Given the description of an element on the screen output the (x, y) to click on. 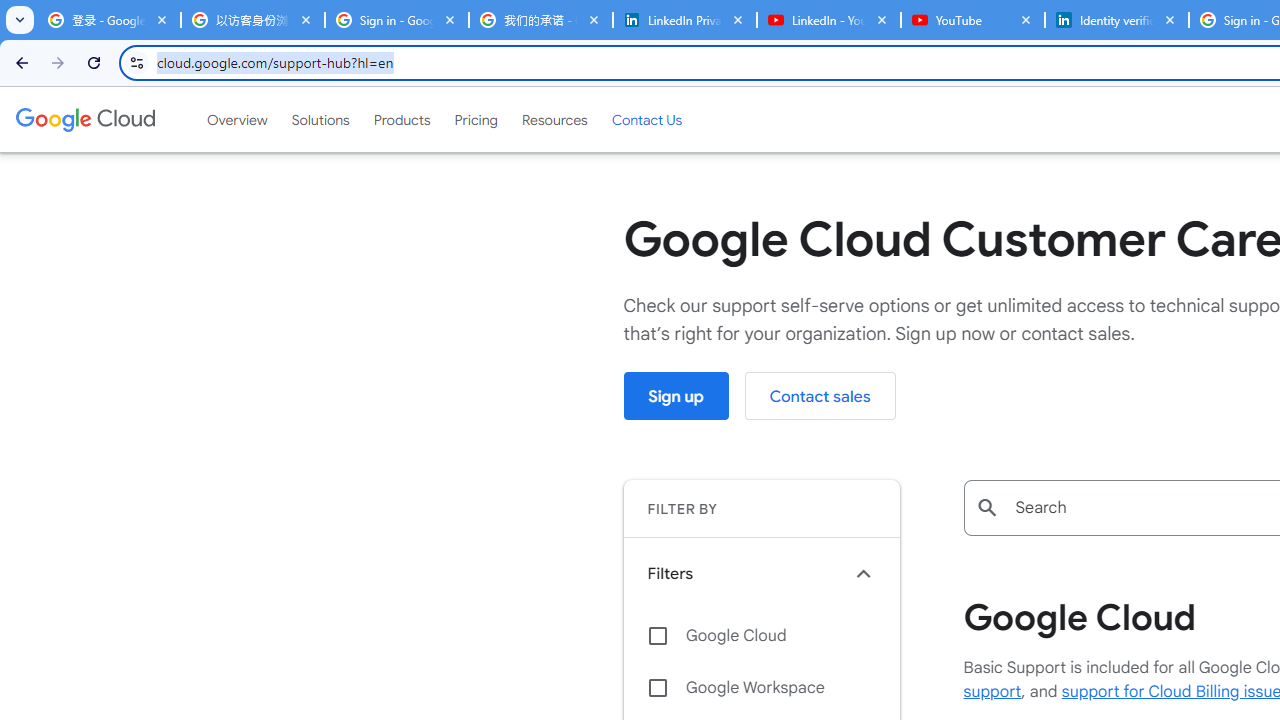
Google Cloud (761, 635)
LinkedIn Privacy Policy (684, 20)
Pricing (476, 119)
Solutions (320, 119)
YouTube (972, 20)
Google Workspace (761, 687)
Filters keyboard_arrow_up (761, 573)
